Given the description of an element on the screen output the (x, y) to click on. 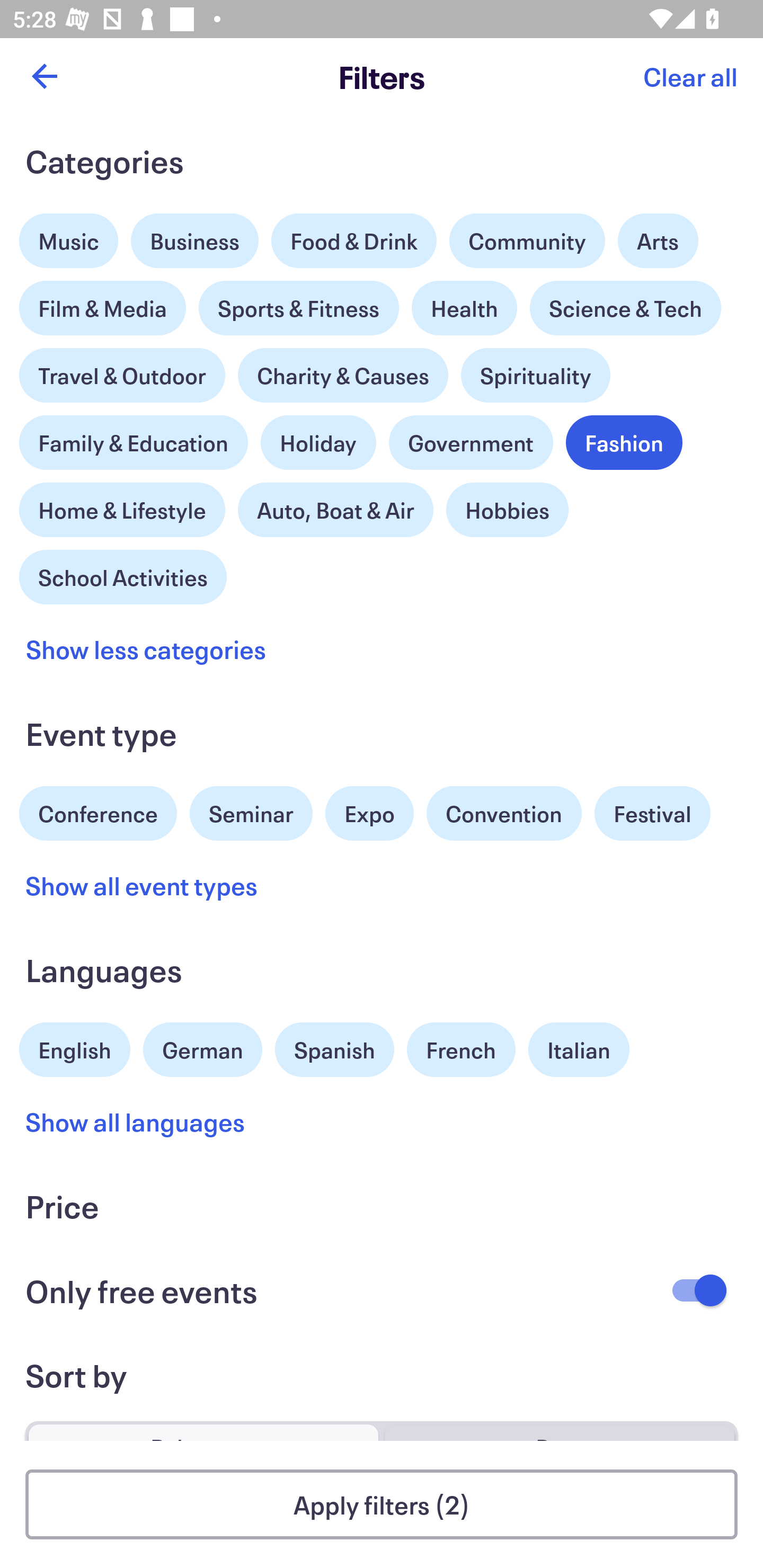
Back button (44, 75)
Clear all (690, 75)
Music (68, 235)
Business (194, 240)
Food & Drink (353, 240)
Community (527, 240)
Arts (658, 235)
Film & Media (102, 303)
Sports & Fitness (298, 307)
Health (464, 307)
Science & Tech (625, 307)
Travel & Outdoor (122, 370)
Charity & Causes (343, 375)
Spirituality (535, 375)
Family & Education (133, 442)
Holiday (318, 437)
Government (471, 442)
Fashion (624, 442)
Home & Lifestyle (122, 505)
Auto, Boat & Air (335, 509)
Hobbies (507, 509)
School Activities (122, 575)
Show less categories (145, 648)
Conference (98, 811)
Seminar (250, 813)
Expo (369, 813)
Convention (503, 813)
Festival (652, 813)
Show all event types (141, 884)
English (74, 1047)
German (202, 1047)
Spanish (334, 1049)
French (460, 1049)
Italian (578, 1049)
Show all languages (135, 1121)
Apply filters (2) (381, 1504)
